Given the description of an element on the screen output the (x, y) to click on. 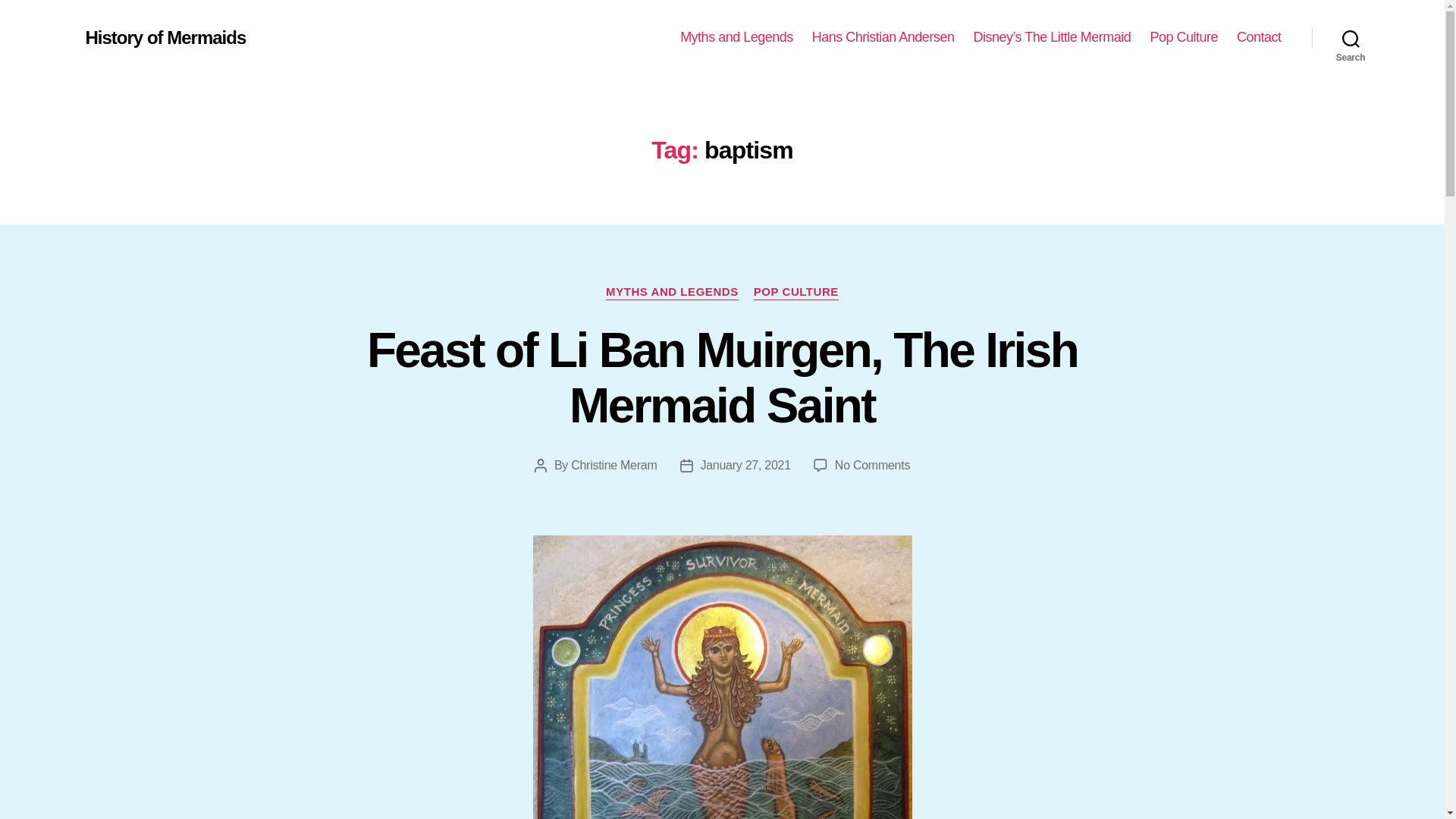
MYTHS AND LEGENDS (671, 292)
January 27, 2021 (745, 464)
Search (1350, 37)
Christine Meram (613, 464)
Feast of Li Ban Muirgen, The Irish Mermaid Saint (721, 377)
disney  (1051, 37)
Hans Christian Andersen (883, 37)
Myths and Legends (736, 37)
myths and legends  (736, 37)
